Given the description of an element on the screen output the (x, y) to click on. 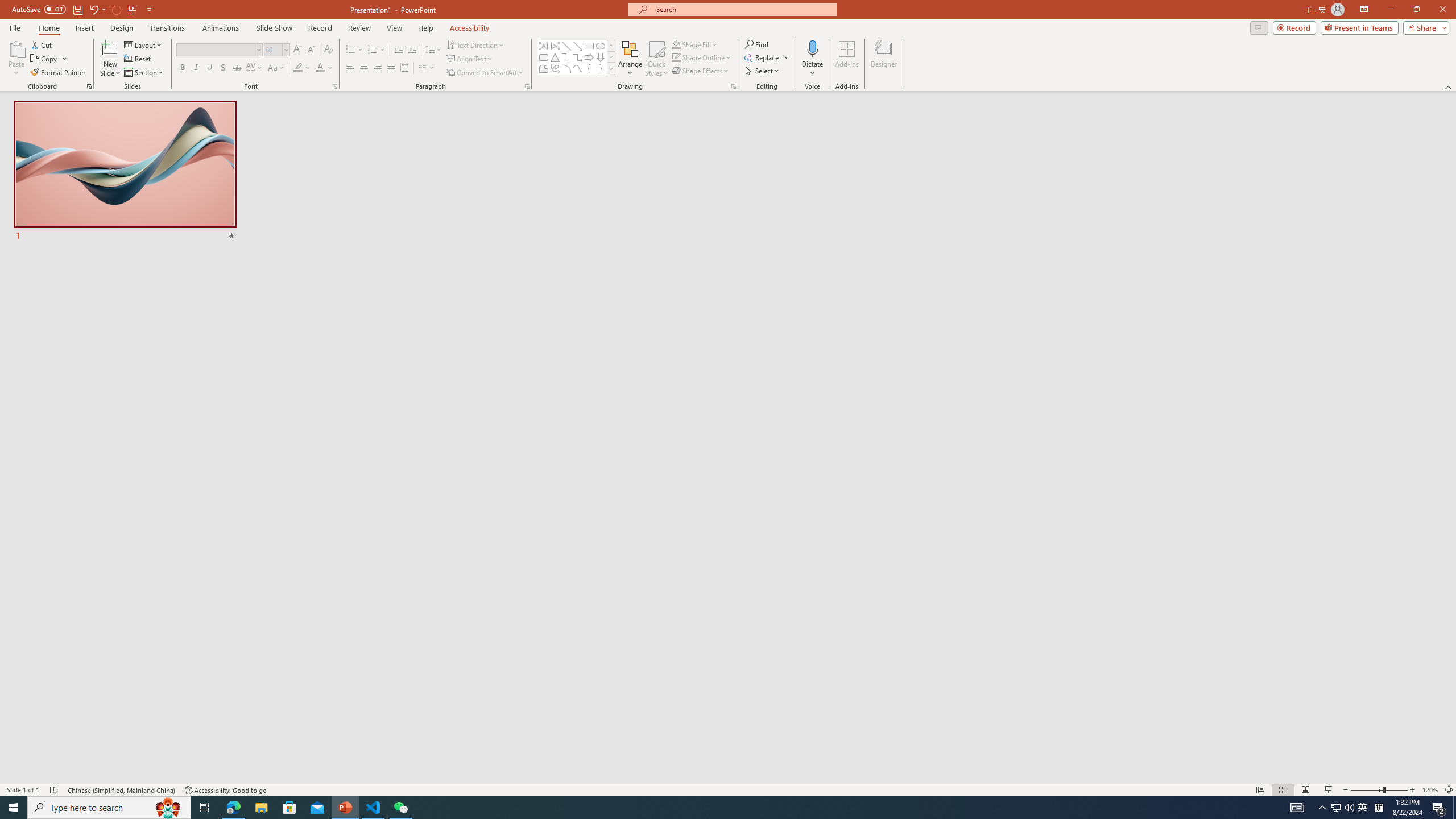
Zoom 120% (1430, 790)
Accessibility Checker Accessibility: Good to go (226, 790)
